Given the description of an element on the screen output the (x, y) to click on. 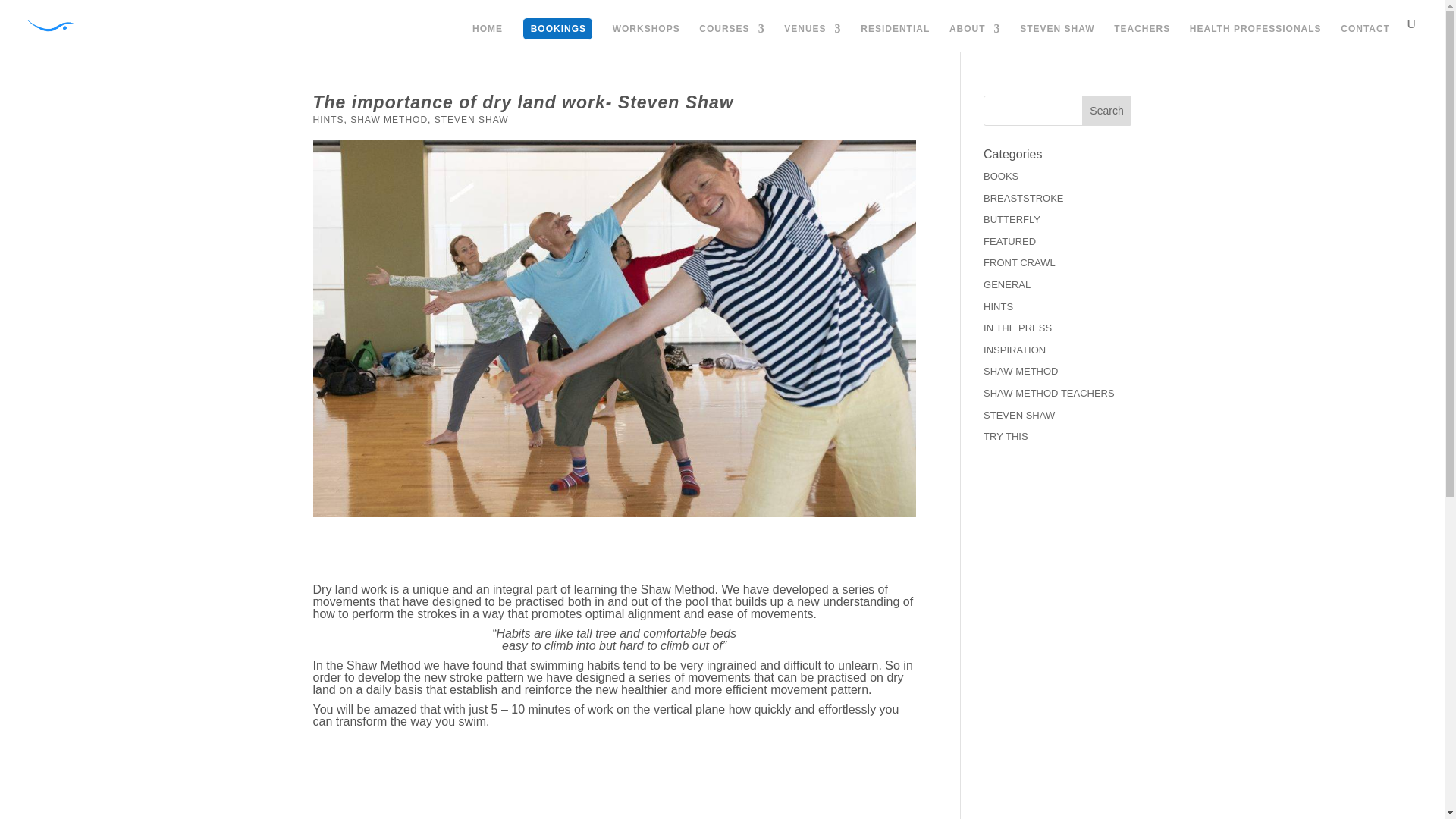
HOME (486, 37)
FEATURED (1009, 241)
SHAW METHOD (389, 119)
ABOUT (975, 37)
COURSES (731, 37)
GENERAL (1007, 284)
TEACHERS (1141, 37)
BREASTSTROKE (1023, 197)
Search (1106, 110)
STEVEN SHAW (1057, 37)
HINTS (328, 119)
HEALTH PROFESSIONALS (1255, 37)
Search (1106, 110)
BUTTERFLY (1012, 219)
HINTS (998, 306)
